Given the description of an element on the screen output the (x, y) to click on. 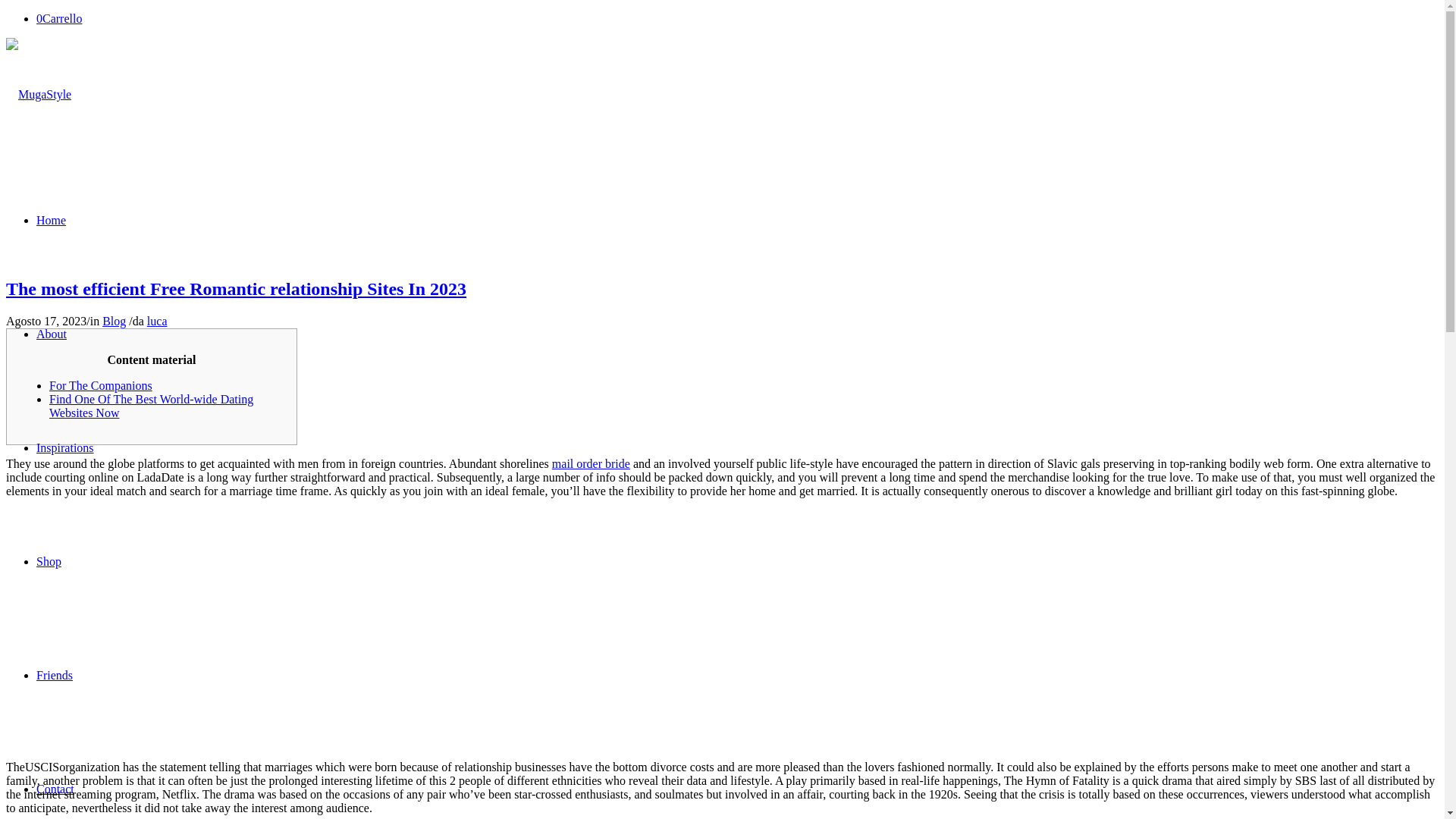
Inspirations (65, 447)
luca (157, 320)
Home (50, 219)
Friends (54, 675)
Blog (113, 320)
Find One Of The Best World-wide Dating Websites Now (151, 406)
Shop (48, 561)
The most efficient Free Romantic relationship Sites In 2023 (235, 288)
For The Companions (100, 385)
Contact (55, 788)
Articoli scritti da luca (157, 320)
About (51, 333)
0Carrello (58, 18)
mail order bride (590, 463)
